Given the description of an element on the screen output the (x, y) to click on. 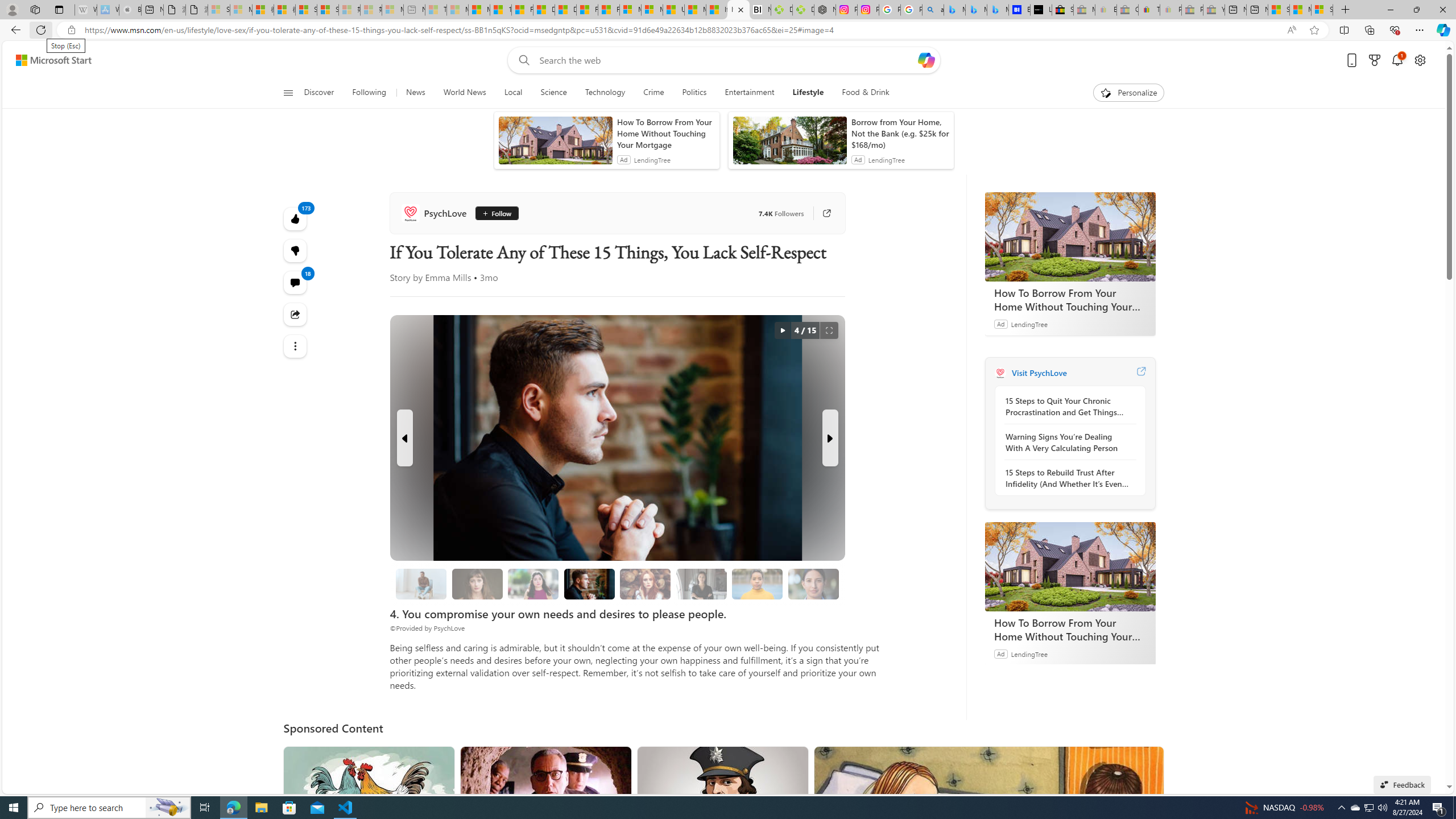
Class: progress (813, 581)
Go to publisher's site (826, 213)
alabama high school quarterback dies - Search (933, 9)
3. Put some thought into it. (421, 583)
Full screen (828, 330)
